Given the description of an element on the screen output the (x, y) to click on. 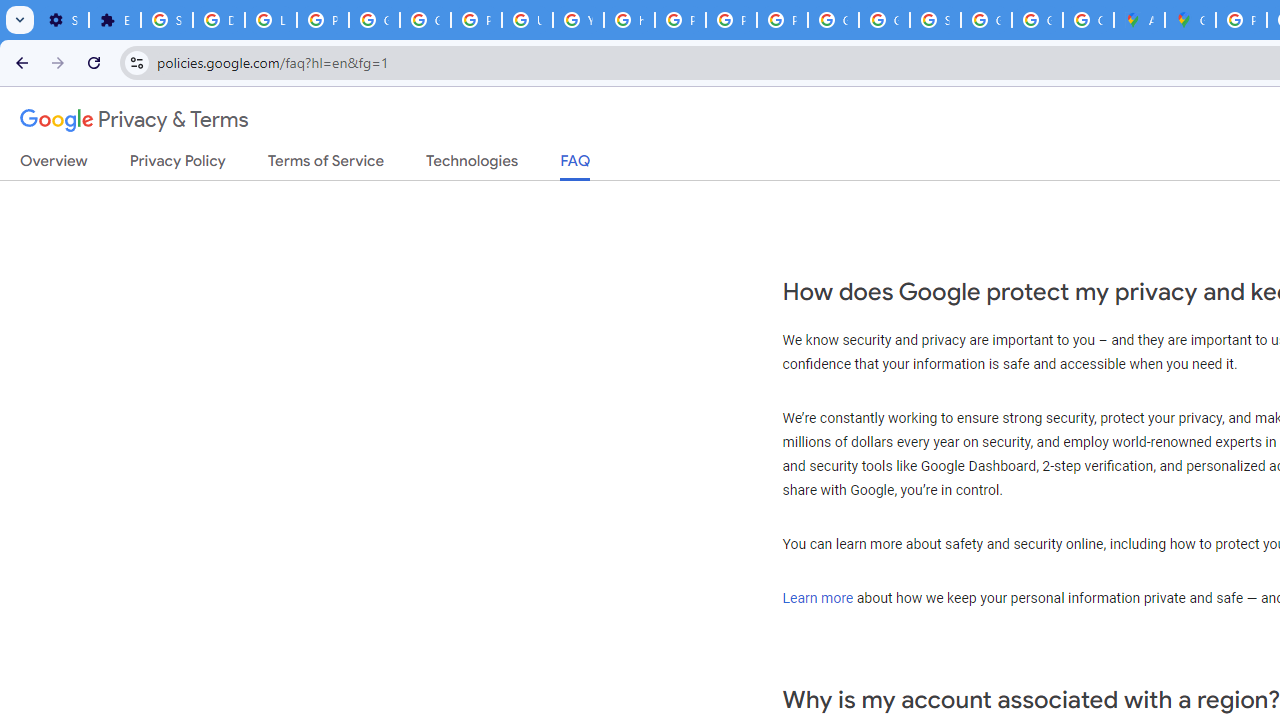
Google Account Help (374, 20)
Google Maps (1189, 20)
Learn more (817, 597)
Policy Accountability and Transparency - Transparency Center (1241, 20)
YouTube (578, 20)
Delete photos & videos - Computer - Google Photos Help (218, 20)
Create your Google Account (1087, 20)
Sign in - Google Accounts (935, 20)
